Given the description of an element on the screen output the (x, y) to click on. 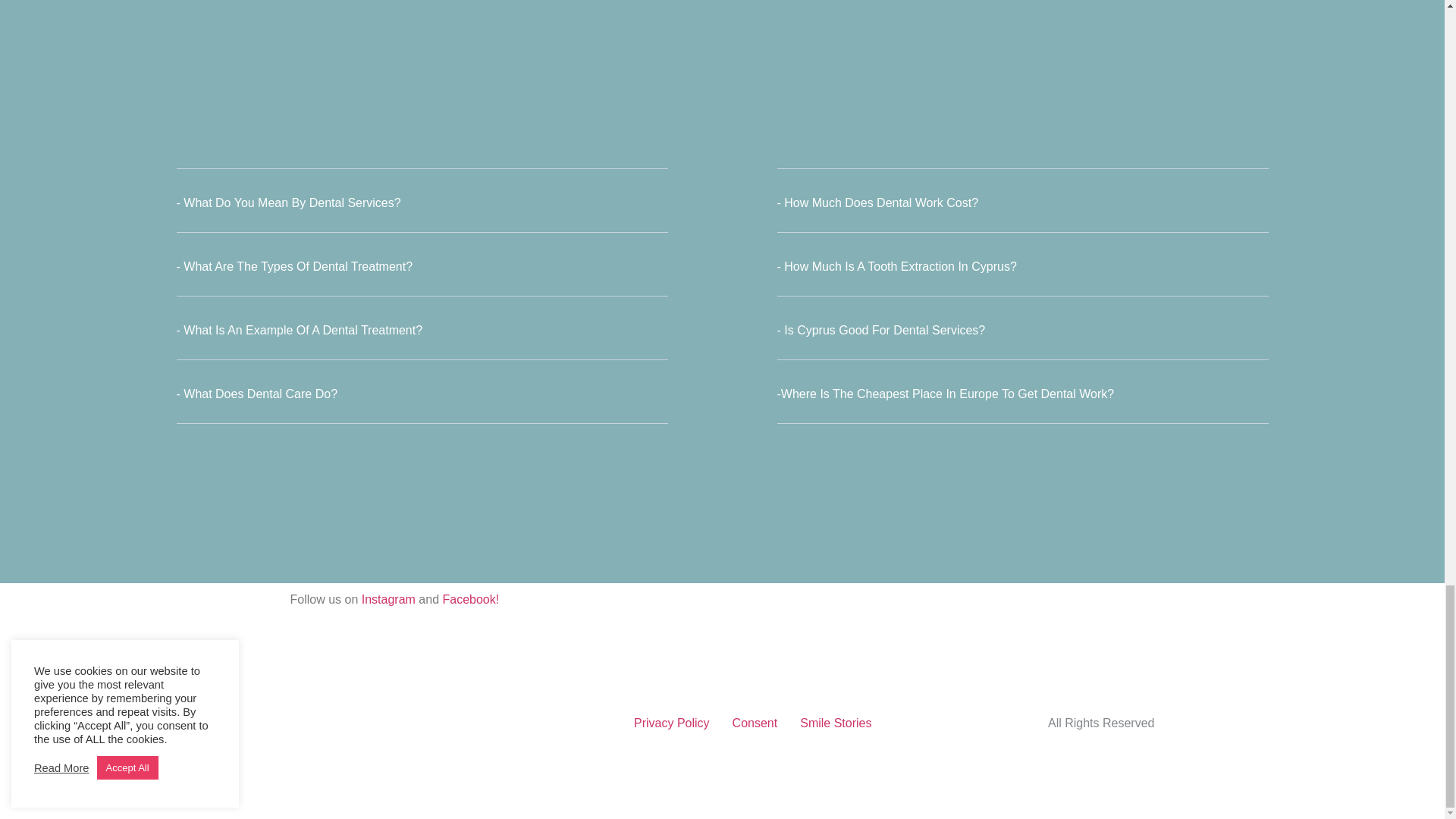
- How Much Does Dental Work Cost? (877, 202)
- What Are The Types Of Dental Treatment? (294, 266)
- How Much Is A Tooth Extraction In Cyprus? (896, 266)
- What Does Dental Care Do? (256, 393)
- What Is An Example Of A Dental Treatment? (299, 329)
- Is Cyprus Good For Dental Services? (880, 329)
- What Do You Mean By Dental Services? (288, 202)
